Given the description of an element on the screen output the (x, y) to click on. 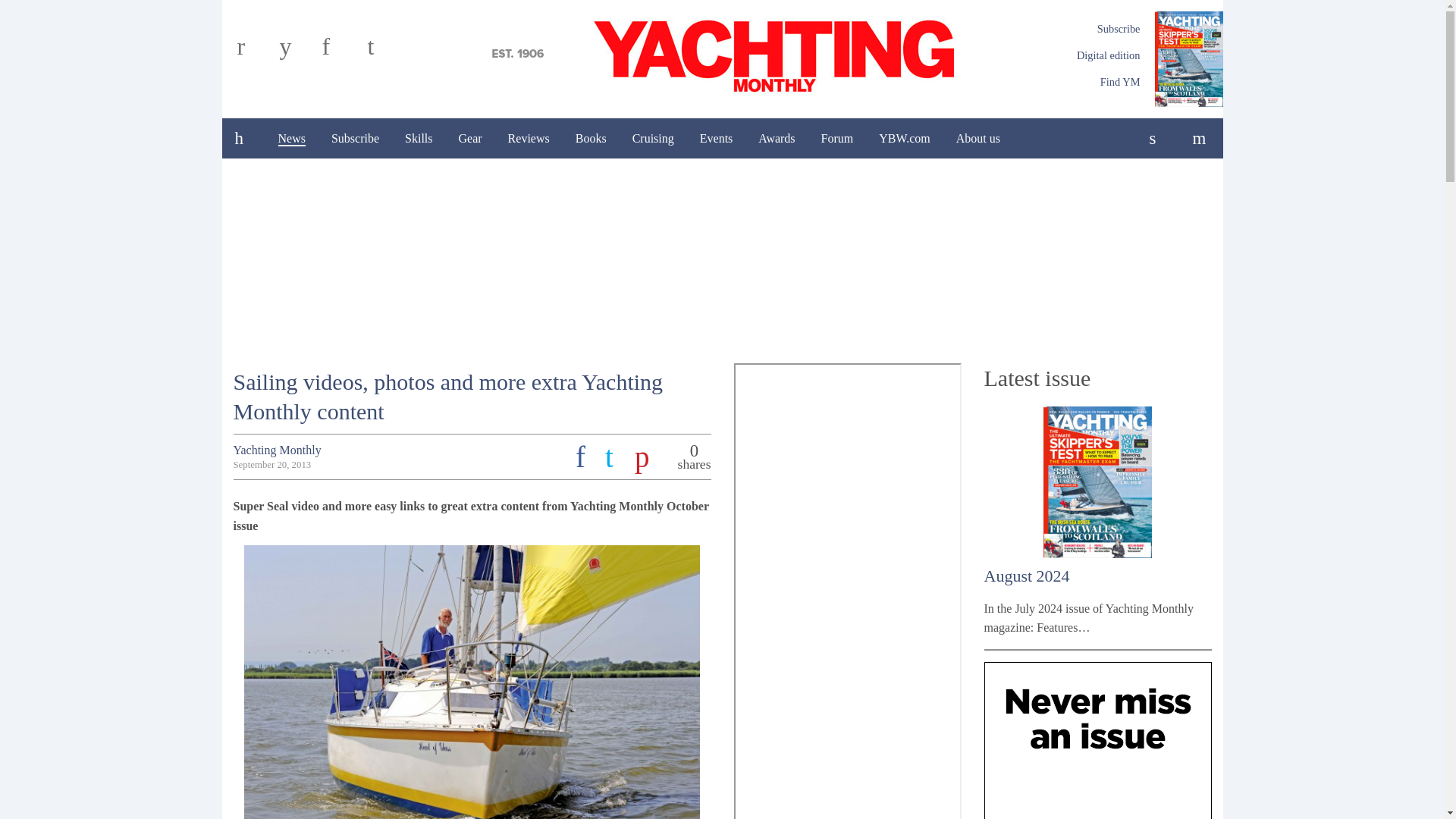
Digital edition (1108, 55)
y (297, 52)
News (291, 138)
Events (716, 138)
t (384, 52)
Reviews (528, 138)
Yachting Monthly (722, 53)
r (254, 52)
Yachting Monthly (722, 53)
Find YM (1120, 81)
